Given the description of an element on the screen output the (x, y) to click on. 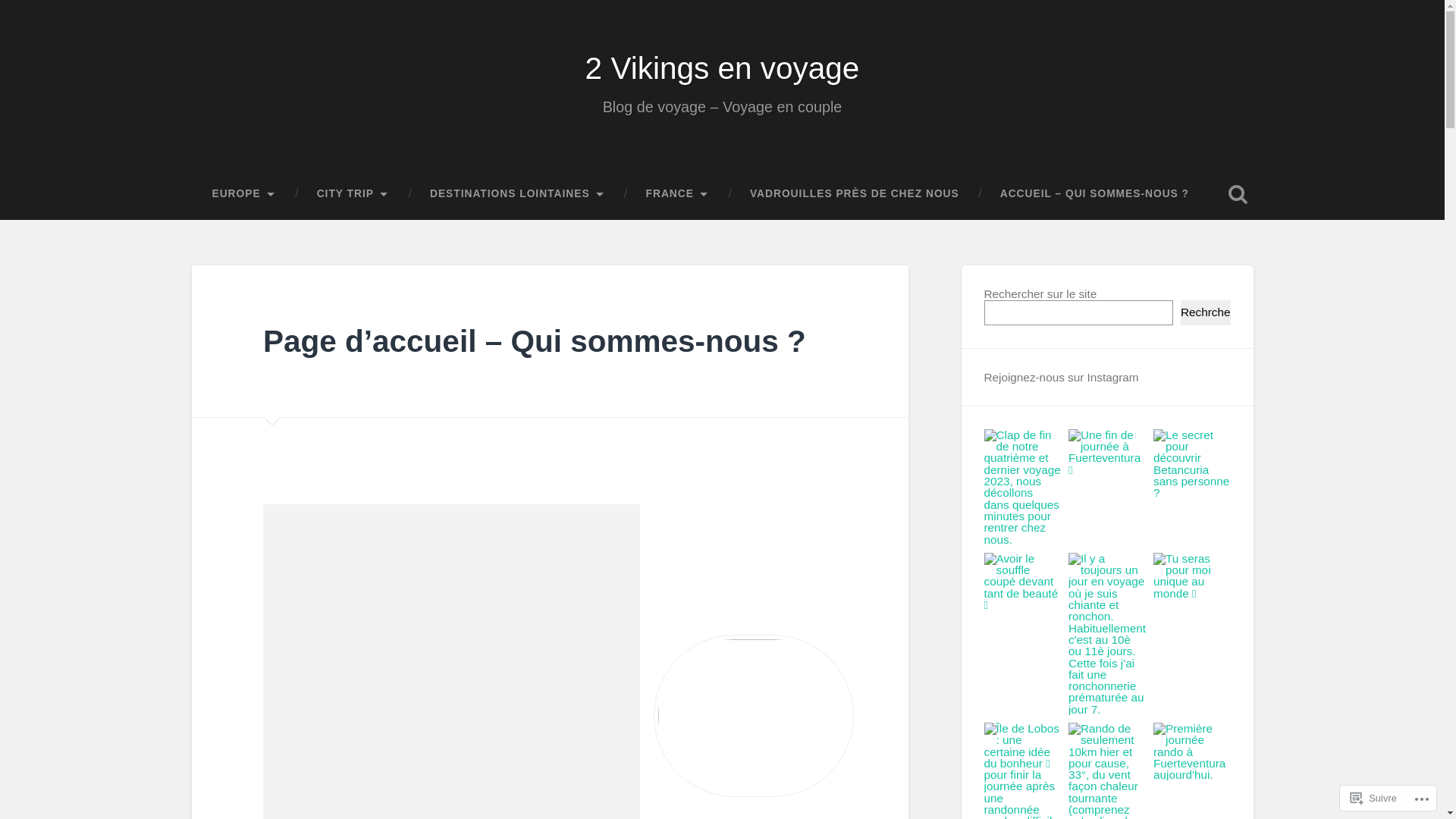
Rechrche Element type: text (1205, 312)
2 Vikings en voyage Element type: text (722, 67)
CITY TRIP Element type: text (352, 193)
Suivre Element type: text (1373, 797)
Ouvrir la recherche Element type: text (1237, 193)
FRANCE Element type: text (677, 193)
EUROPE Element type: text (243, 193)
DESTINATIONS LOINTAINES Element type: text (517, 193)
